Given the description of an element on the screen output the (x, y) to click on. 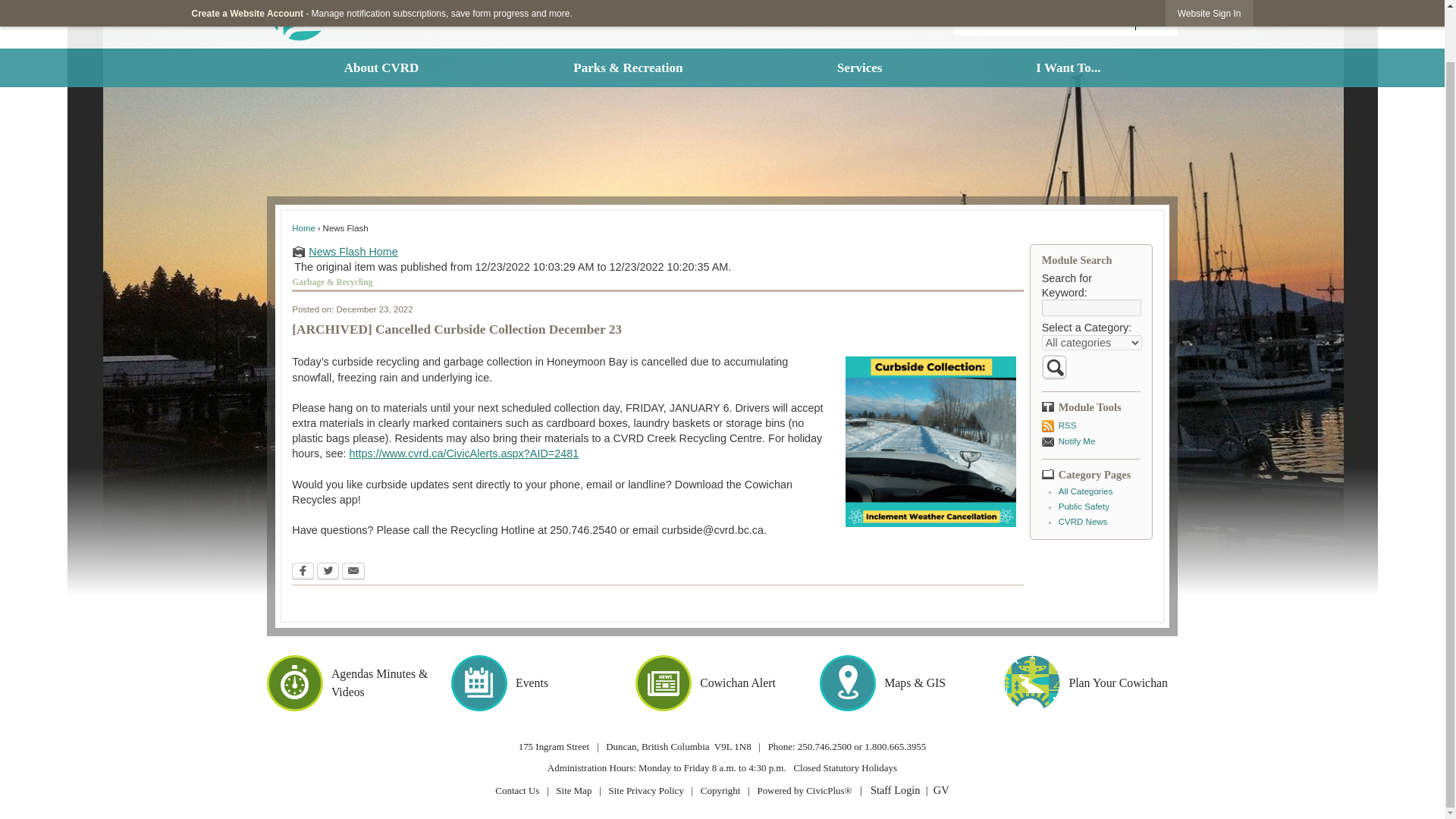
Site Privacy Policy (645, 790)
Cowichan Alert (721, 683)
News Flash Home (657, 251)
Services (859, 67)
Share on Twitter (328, 570)
GV (941, 789)
Search... (1065, 18)
Staff Login (895, 789)
Copyright (720, 790)
RSS (1091, 425)
All Categories (1085, 491)
Events (537, 683)
About CVRD (381, 67)
I Want To... (1068, 67)
Plan Your Cowichan (1090, 683)
